Given the description of an element on the screen output the (x, y) to click on. 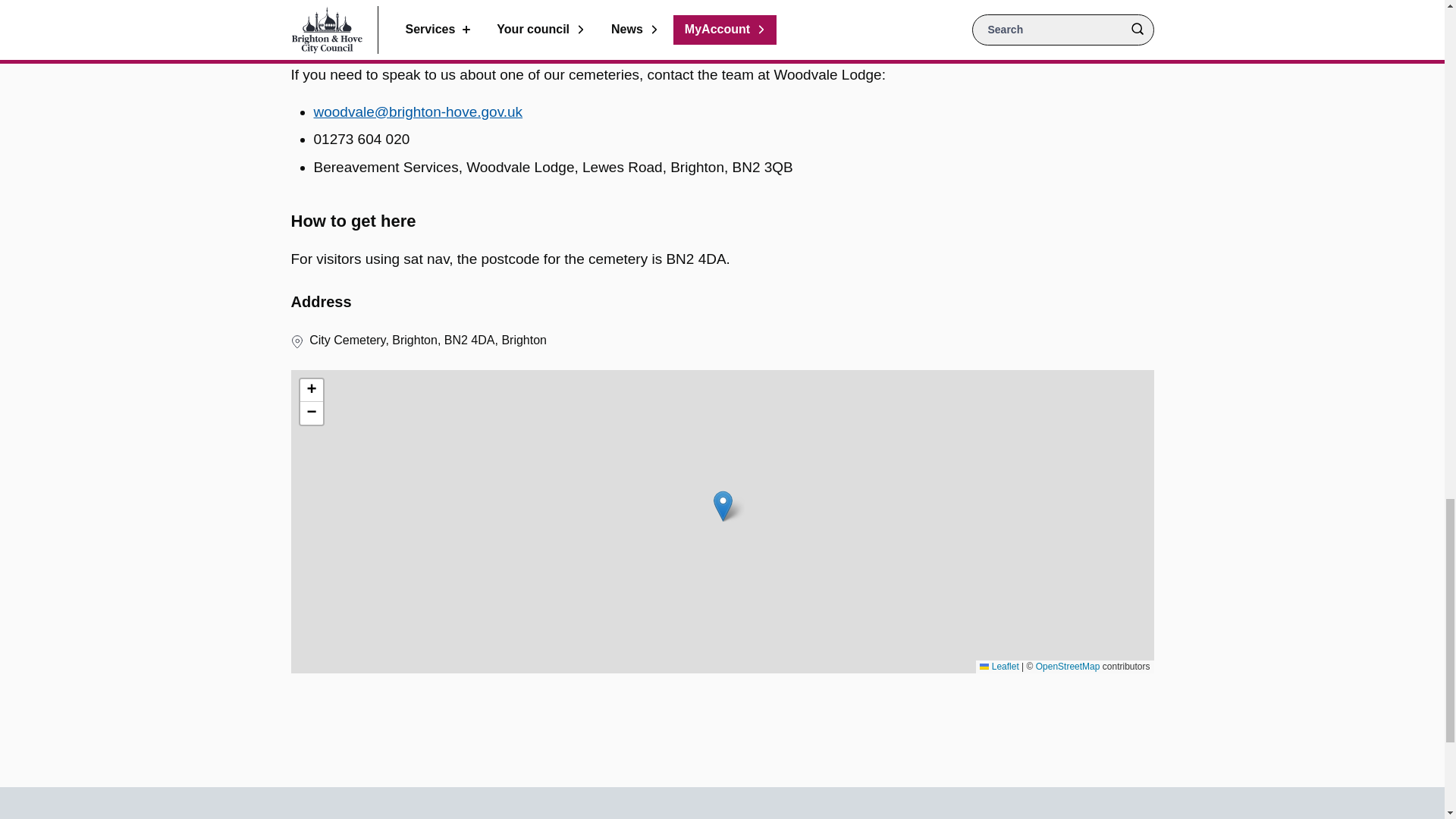
A JavaScript library for interactive maps (998, 665)
Zoom in (311, 390)
Zoom out (311, 413)
